Given the description of an element on the screen output the (x, y) to click on. 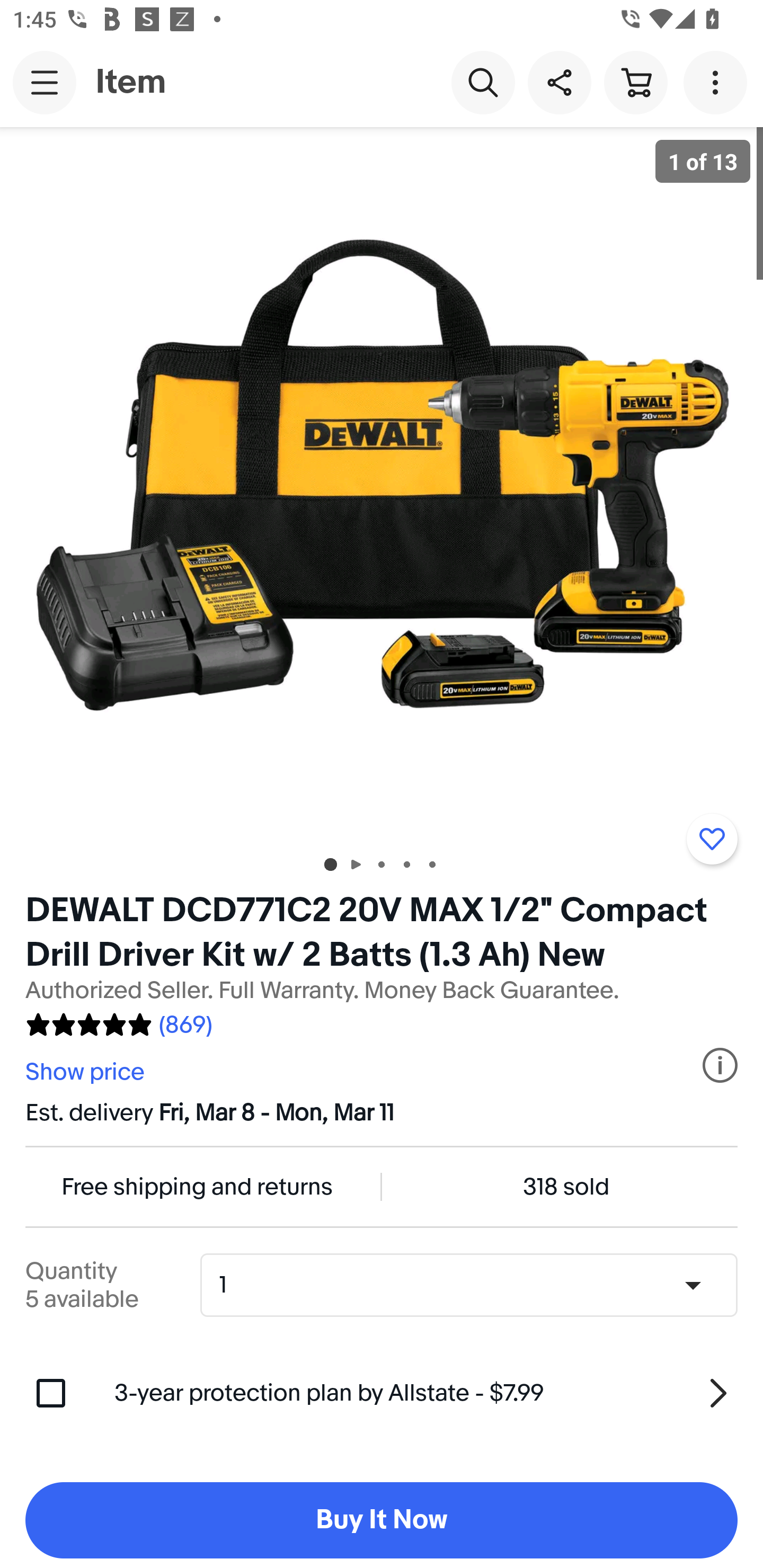
Main navigation, open (44, 82)
Search (482, 81)
Share this item (559, 81)
Cart button shopping cart (635, 81)
More options (718, 81)
Item image 1 of 13 (381, 482)
Add to watchlist (711, 838)
More information (719, 1065)
Show price (87, 1072)
Quantity,1,5 available 1 (474, 1284)
3-year protection plan by Allstate - $7.99 (425, 1392)
Buy It Now (381, 1519)
